Given the description of an element on the screen output the (x, y) to click on. 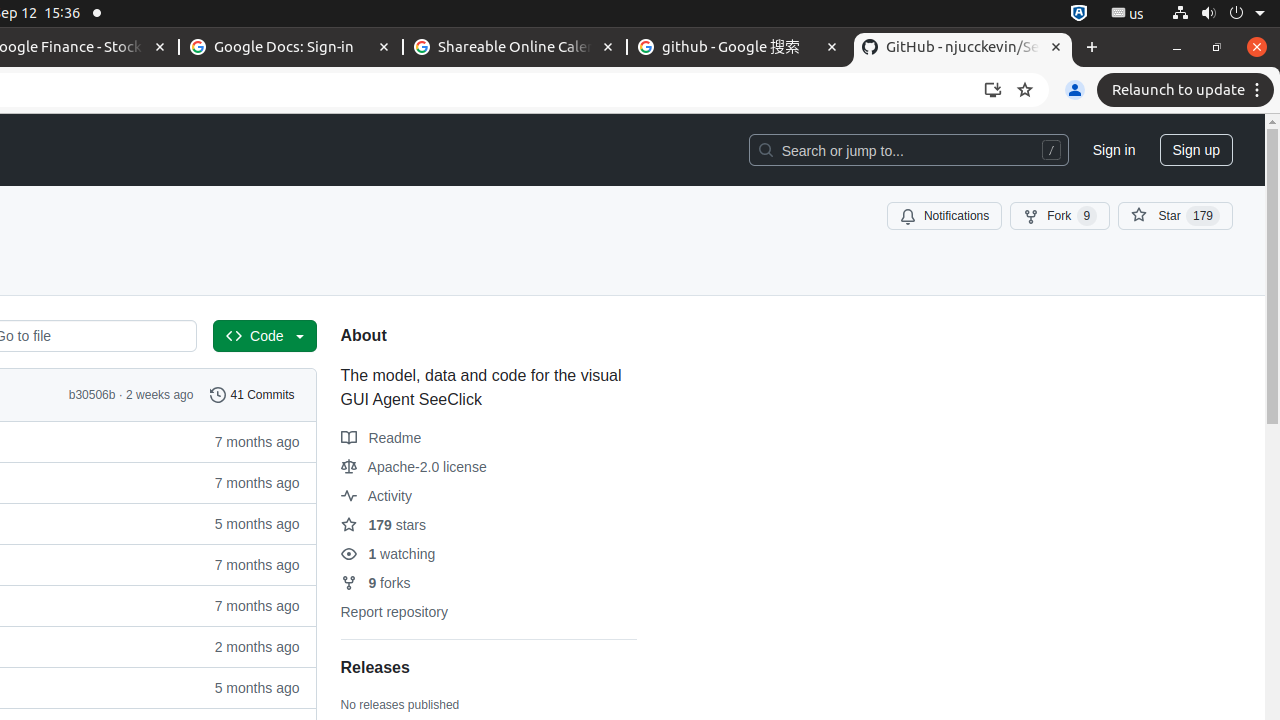
:1.21/StatusNotifierItem Element type: menu (1127, 13)
Shareable Online Calendar and Scheduling - Google Calendar - Memory usage - 87.5 MB Element type: page-tab (515, 47)
2 months ago Element type: table-cell (247, 646)
Fork 9 Element type: link (1060, 215)
:1.72/StatusNotifierItem Element type: menu (1079, 13)
